Given the description of an element on the screen output the (x, y) to click on. 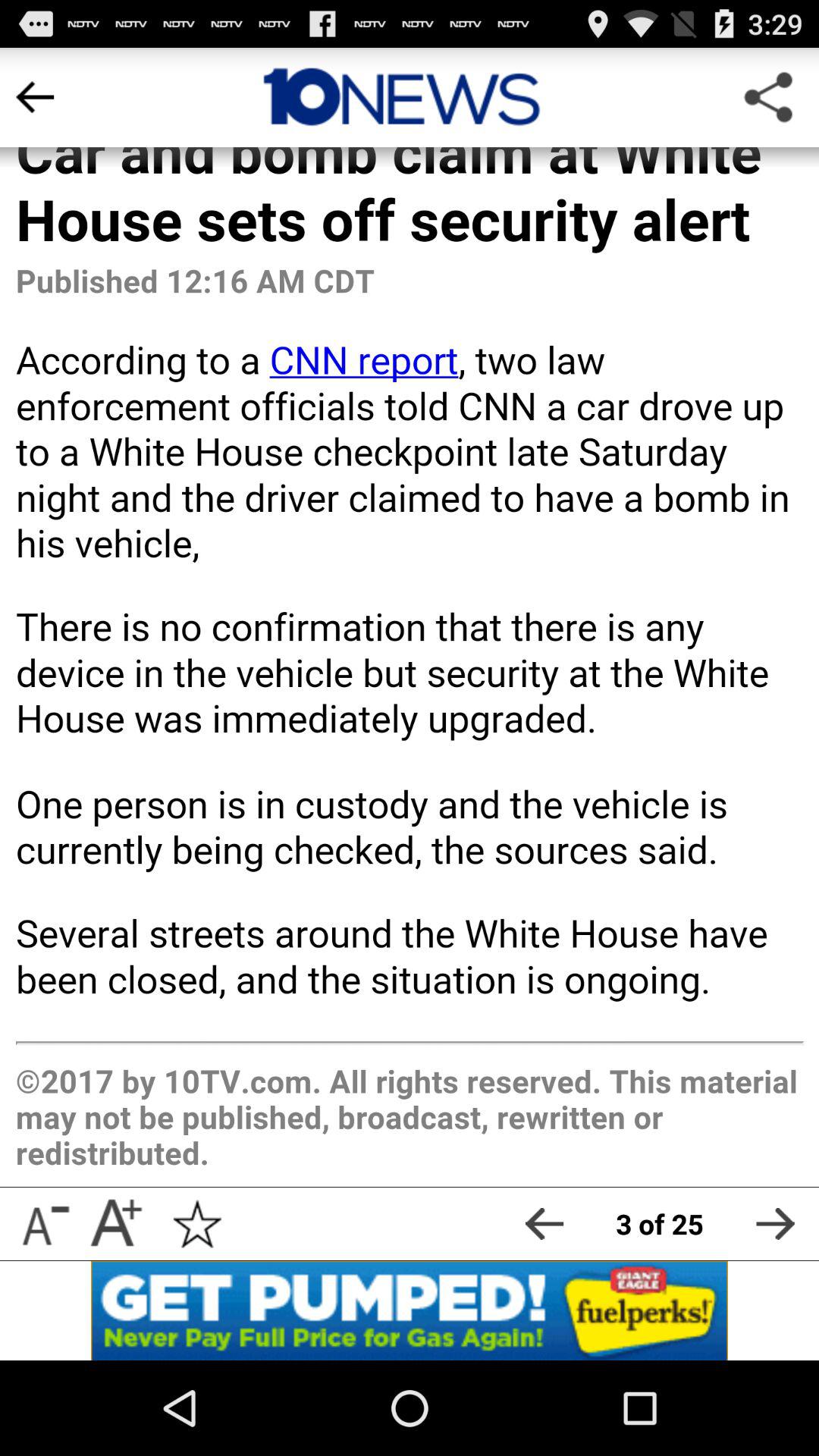
enlarge font size (115, 1223)
